Given the description of an element on the screen output the (x, y) to click on. 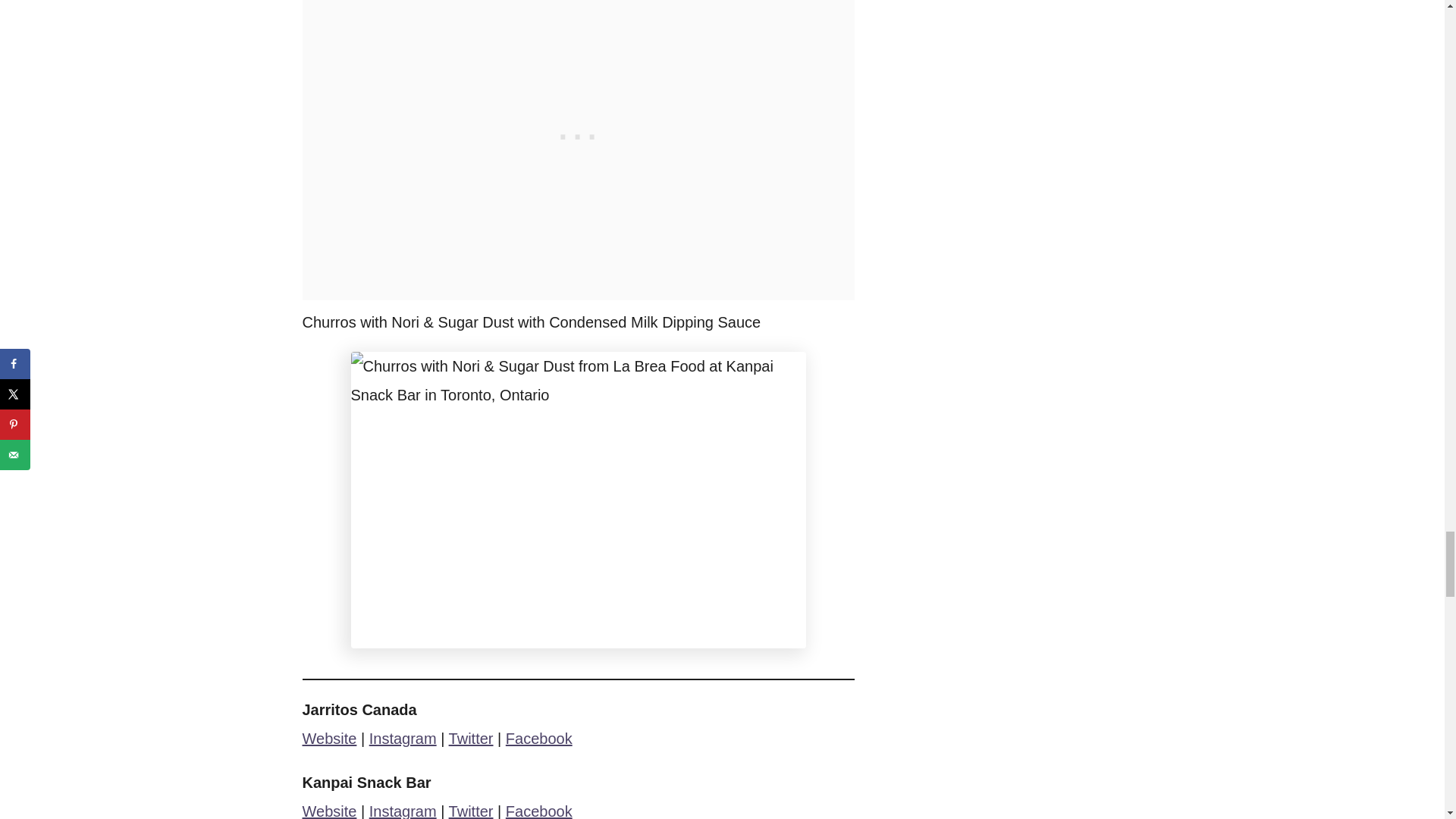
Instagram (402, 738)
Twitter (470, 738)
Website (328, 738)
Facebook (538, 738)
